Given the description of an element on the screen output the (x, y) to click on. 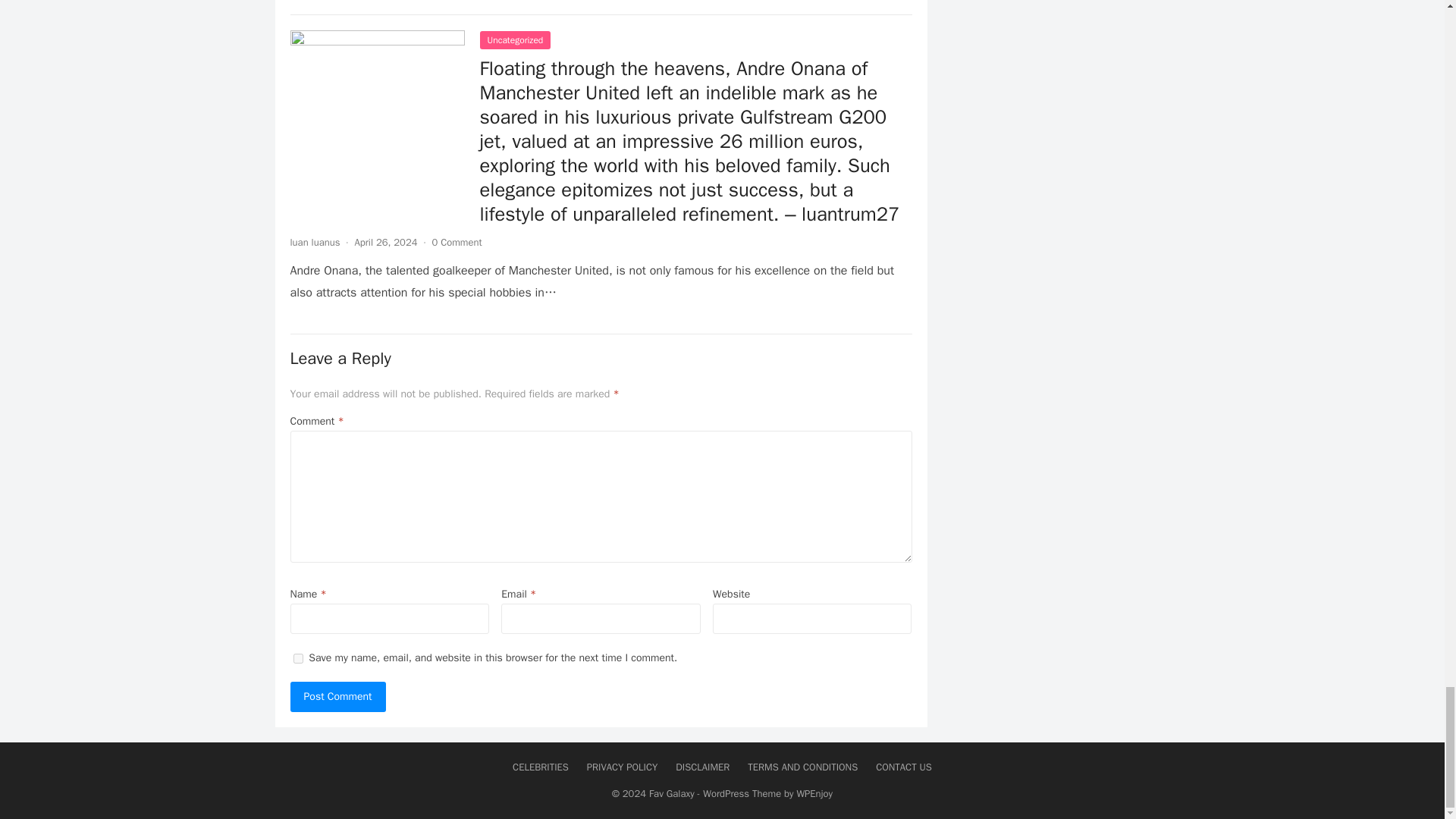
Posts by luan luanus (314, 241)
Post Comment (337, 696)
yes (297, 658)
